Given the description of an element on the screen output the (x, y) to click on. 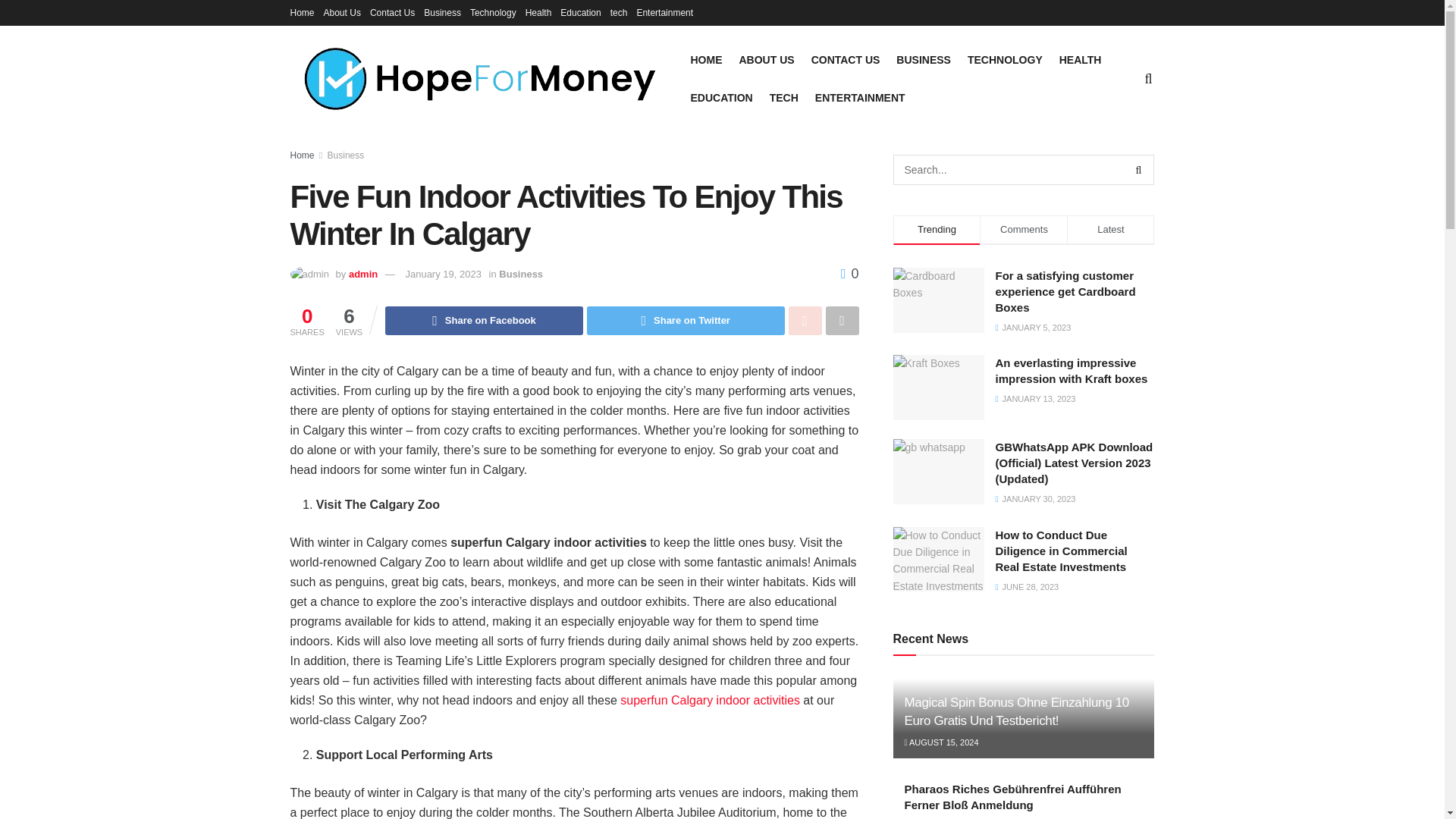
January 19, 2023 (442, 274)
Technology (493, 12)
Business (442, 12)
EDUCATION (721, 97)
TECHNOLOGY (1005, 59)
Entertainment (664, 12)
admin (363, 274)
Home (301, 154)
Contact Us (391, 12)
Health (538, 12)
